Given the description of an element on the screen output the (x, y) to click on. 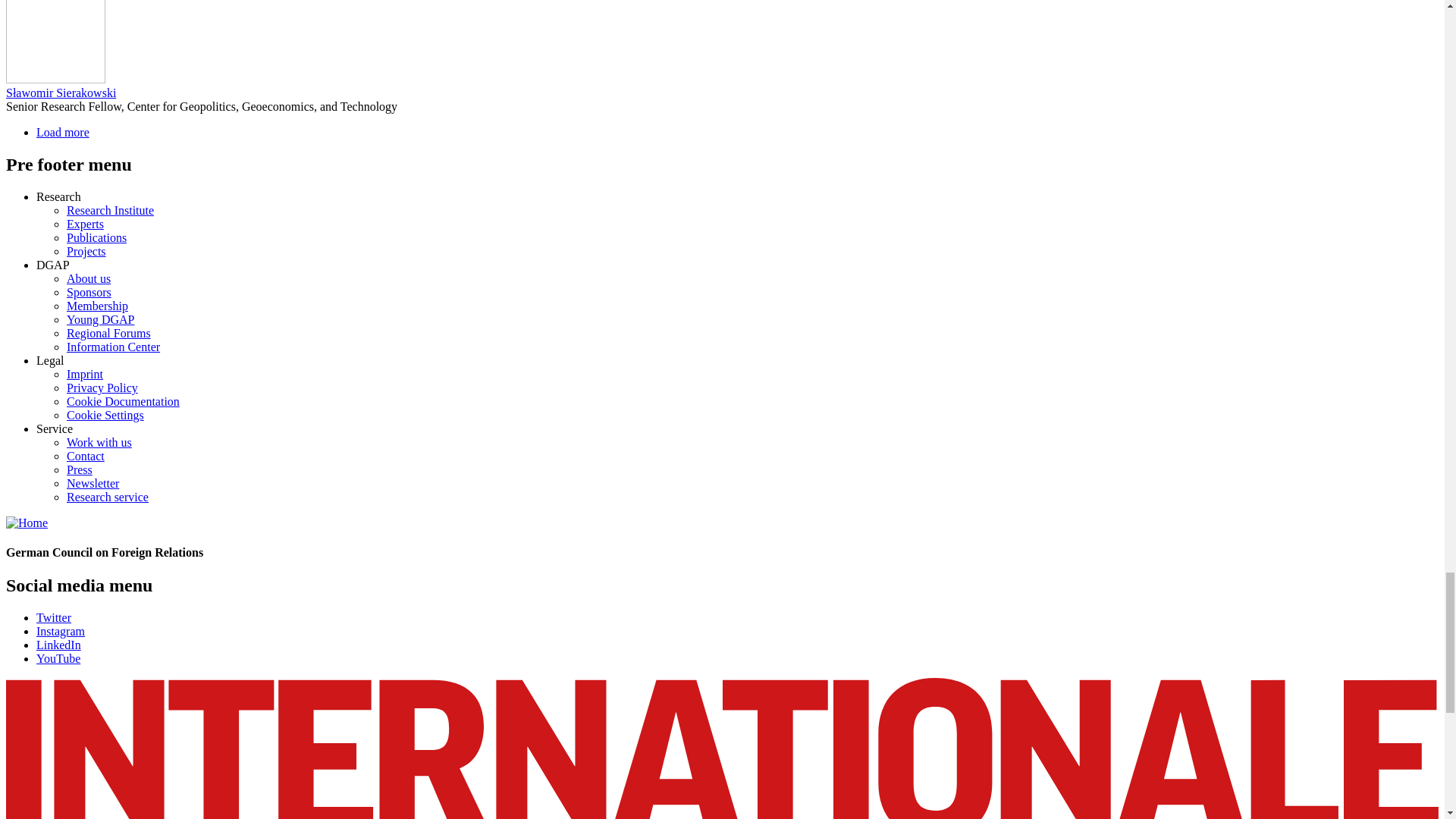
Go to next page (62, 132)
LinkedIn (58, 644)
Home (26, 522)
